Given the description of an element on the screen output the (x, y) to click on. 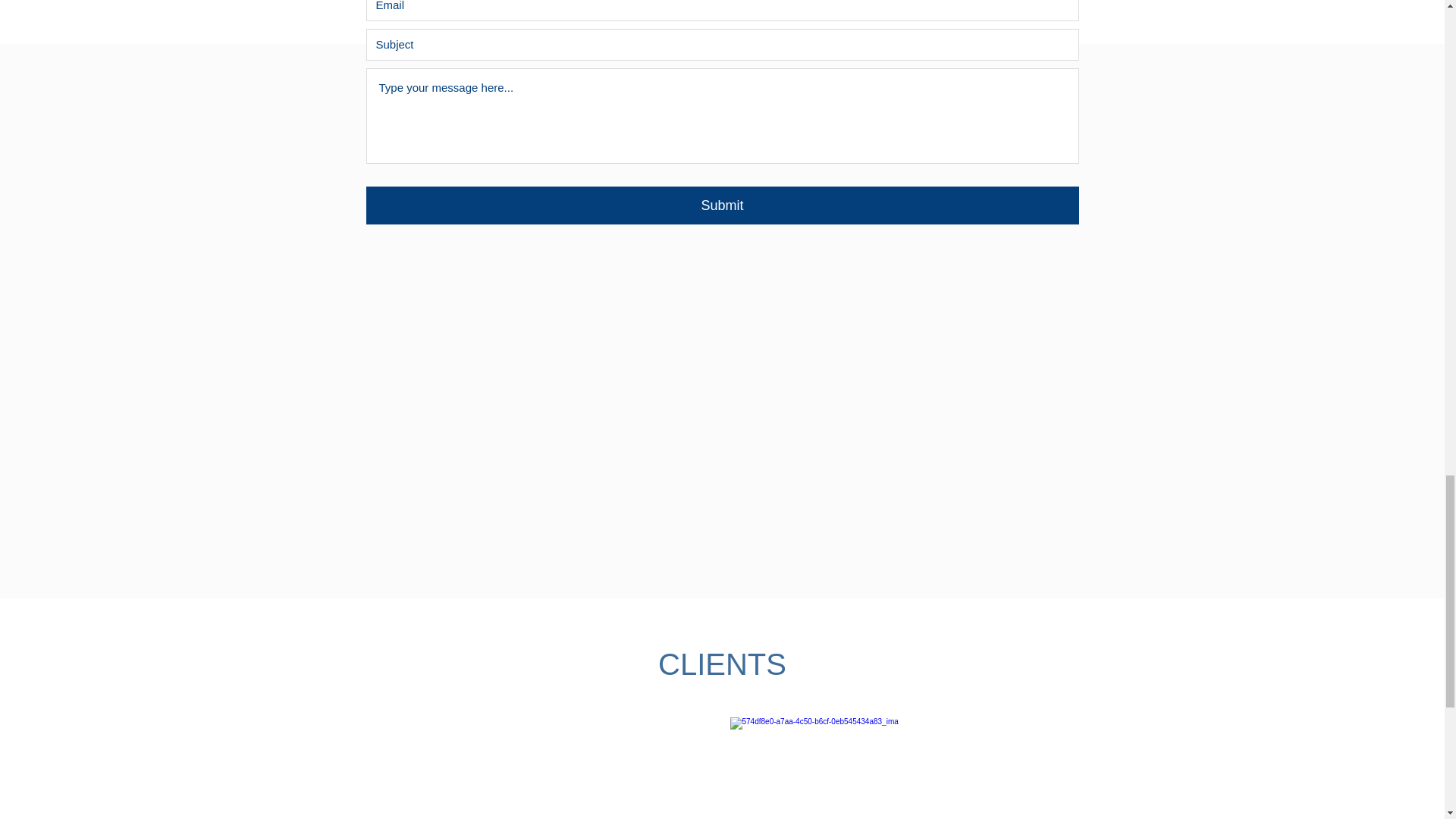
Submit (721, 205)
